Given the description of an element on the screen output the (x, y) to click on. 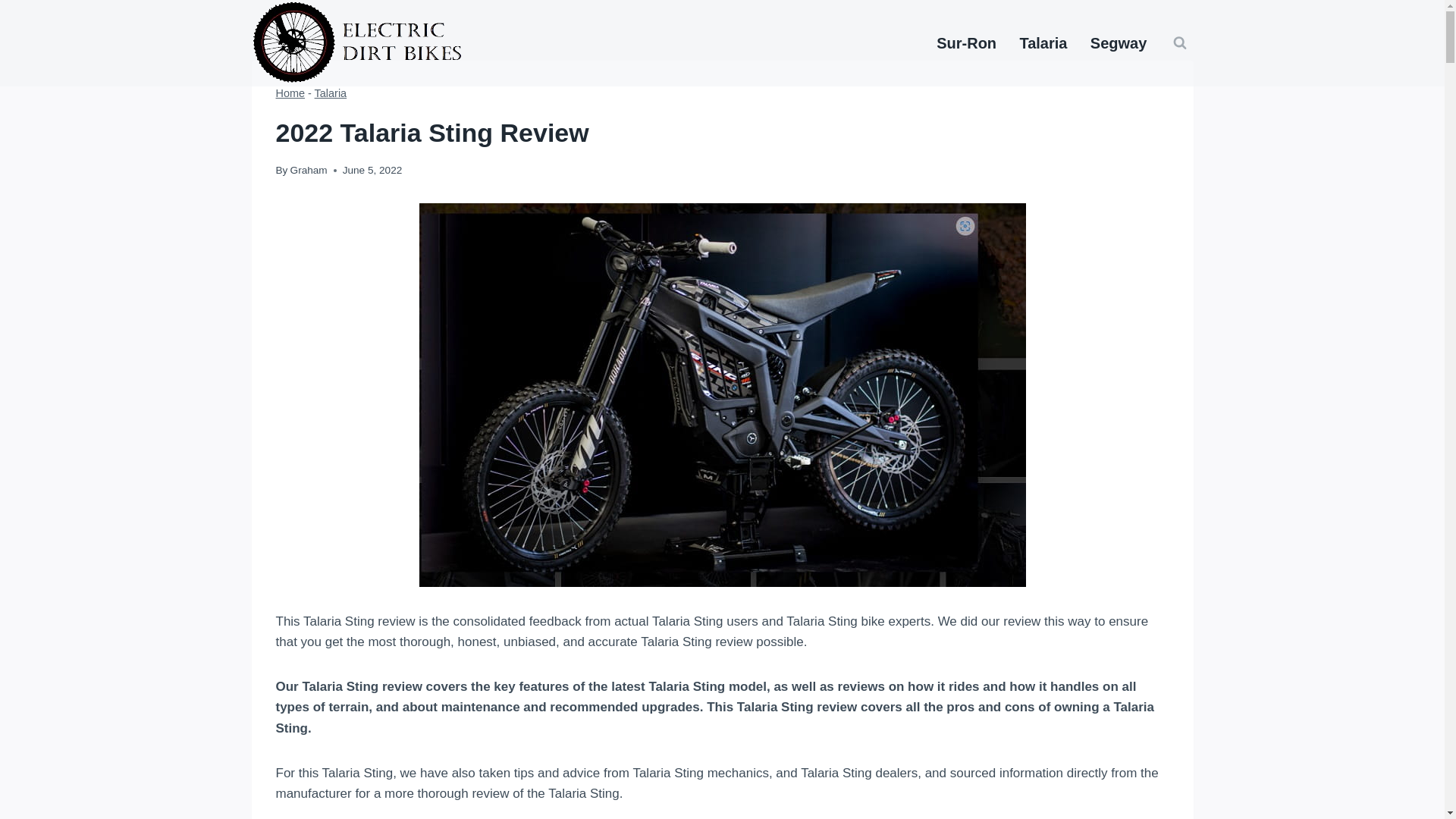
Talaria (1042, 43)
Talaria (330, 92)
Segway (1118, 43)
Home (290, 92)
Sur-Ron (965, 43)
Graham (308, 170)
